Given the description of an element on the screen output the (x, y) to click on. 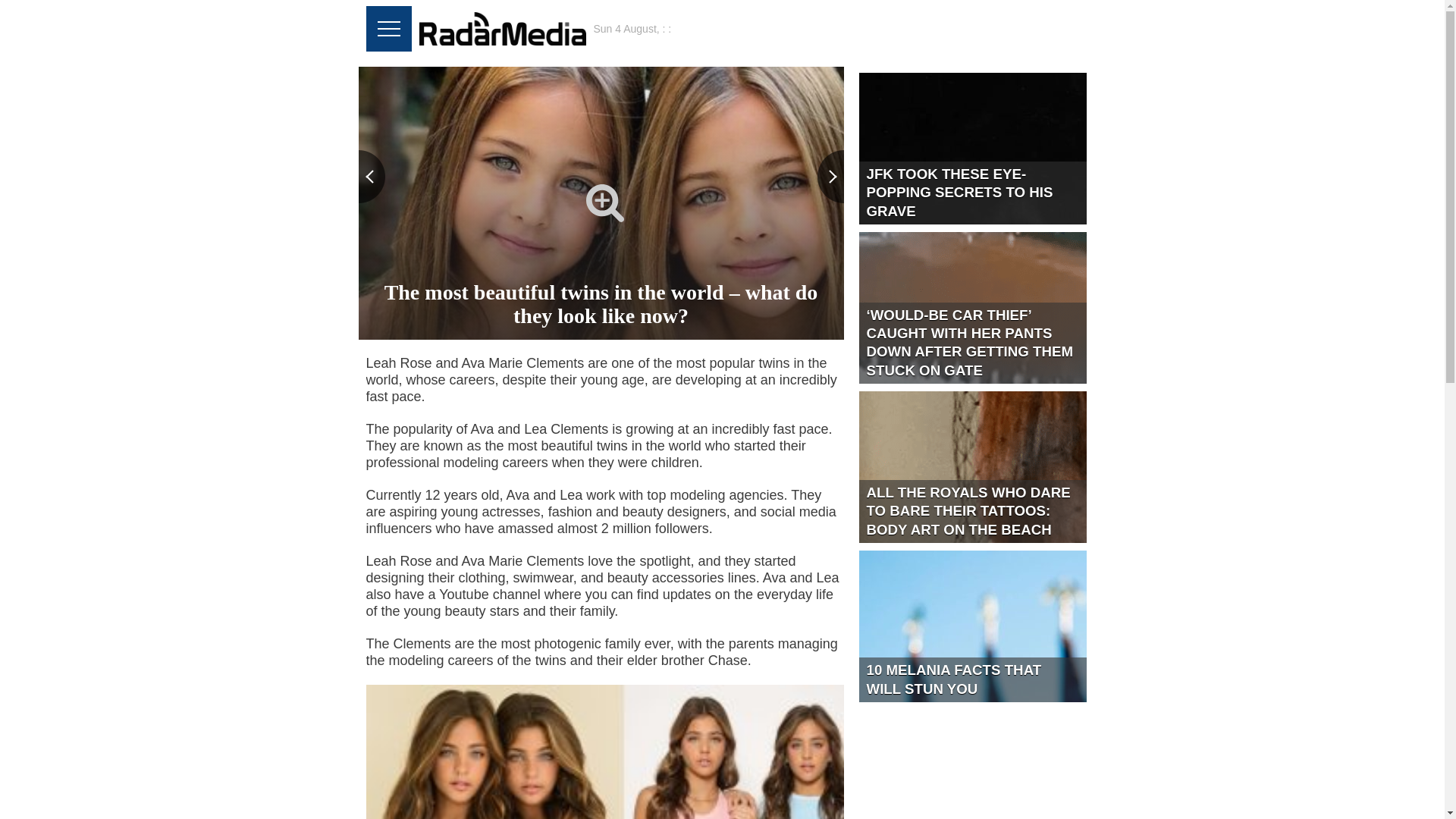
radarmedia (502, 28)
